Given the description of an element on the screen output the (x, y) to click on. 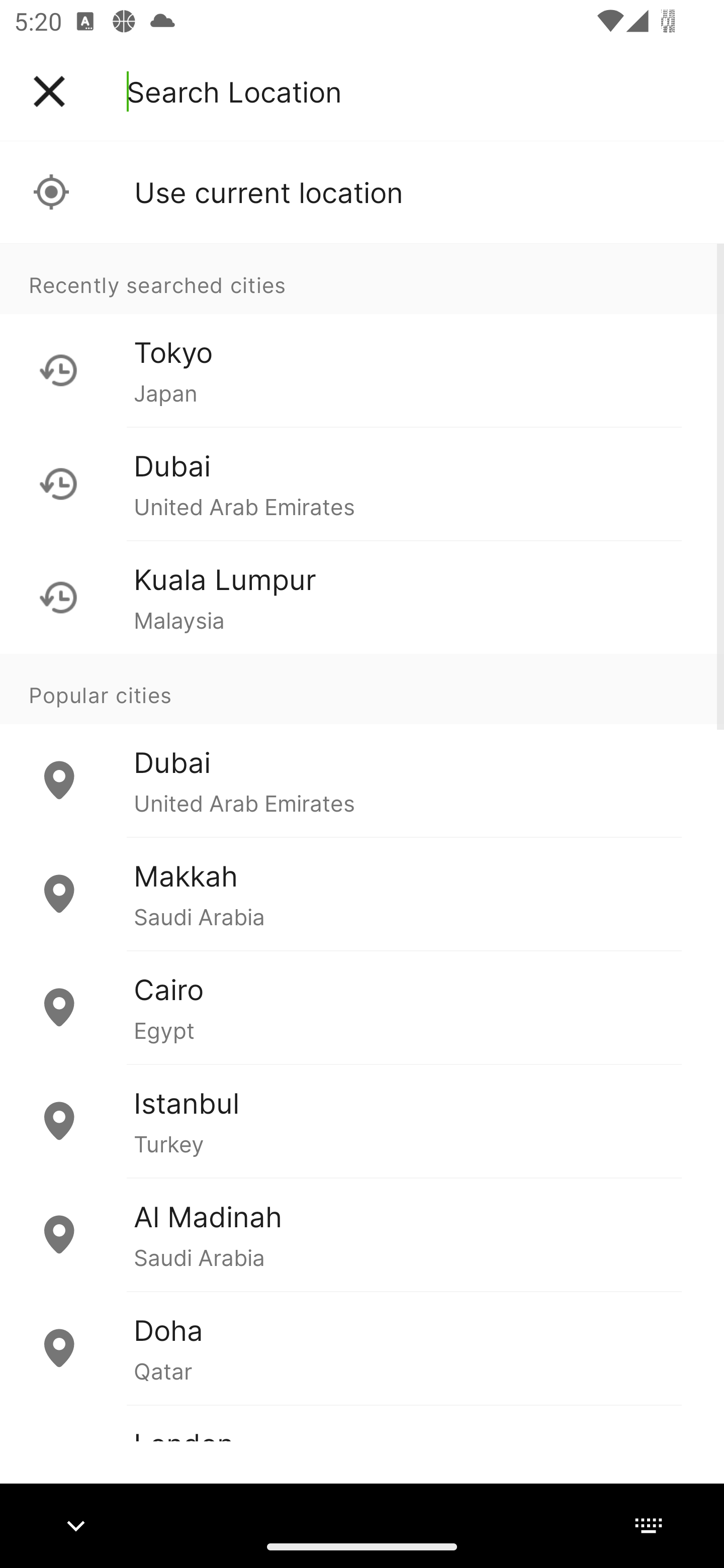
Search Location (234, 91)
Use current location (362, 192)
Recently searched cities Tokyo Japan (362, 334)
Recently searched cities (362, 278)
Dubai United Arab Emirates (362, 483)
Kuala Lumpur Malaysia (362, 596)
Popular cities Dubai United Arab Emirates (362, 745)
Popular cities (362, 688)
Makkah Saudi Arabia (362, 893)
Cairo Egypt (362, 1007)
Istanbul Turkey (362, 1120)
Al Madinah Saudi Arabia (362, 1233)
Doha Qatar (362, 1347)
